Given the description of an element on the screen output the (x, y) to click on. 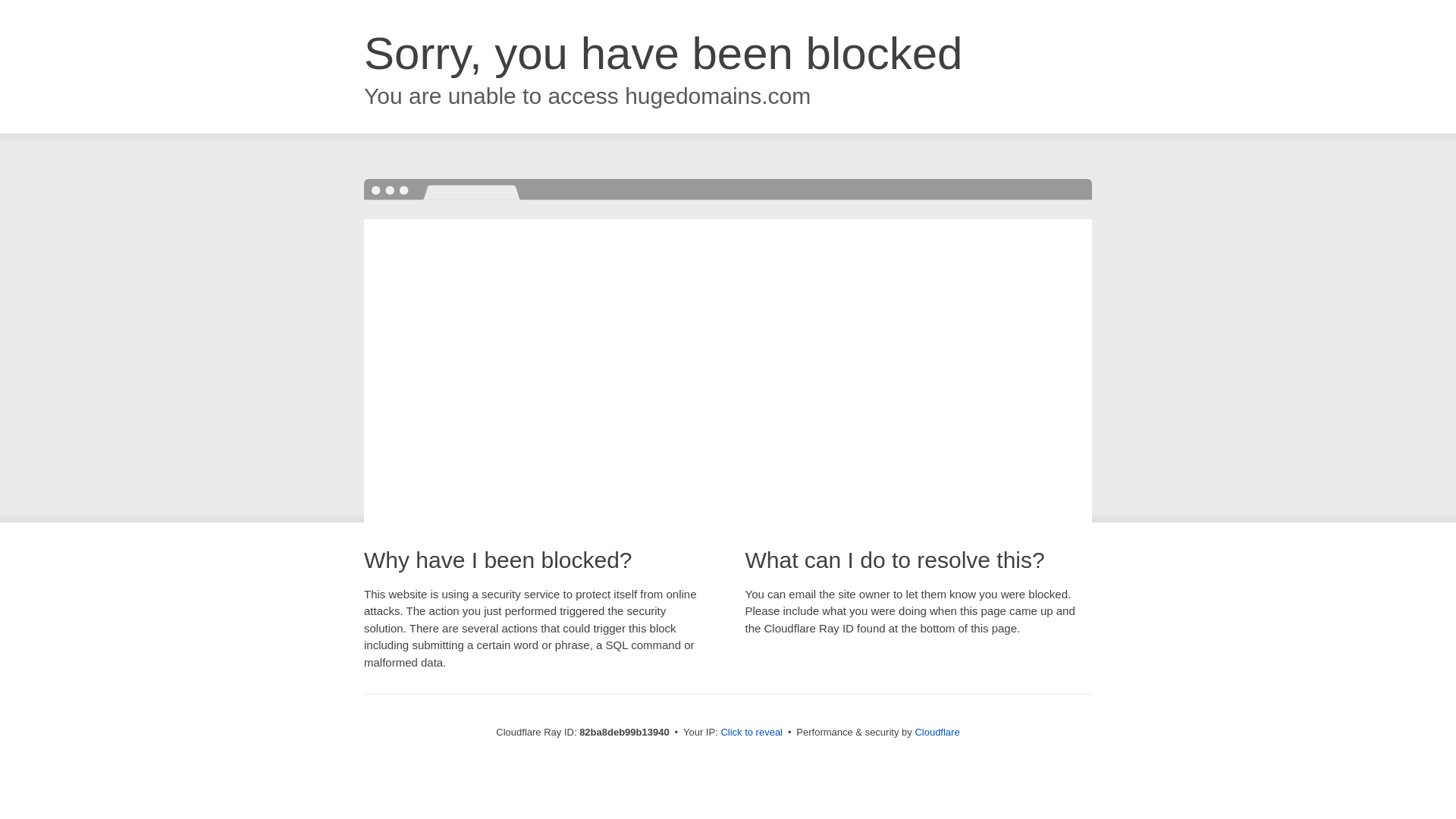
Cloudflare Element type: text (936, 731)
Click to reveal Element type: text (751, 732)
